Given the description of an element on the screen output the (x, y) to click on. 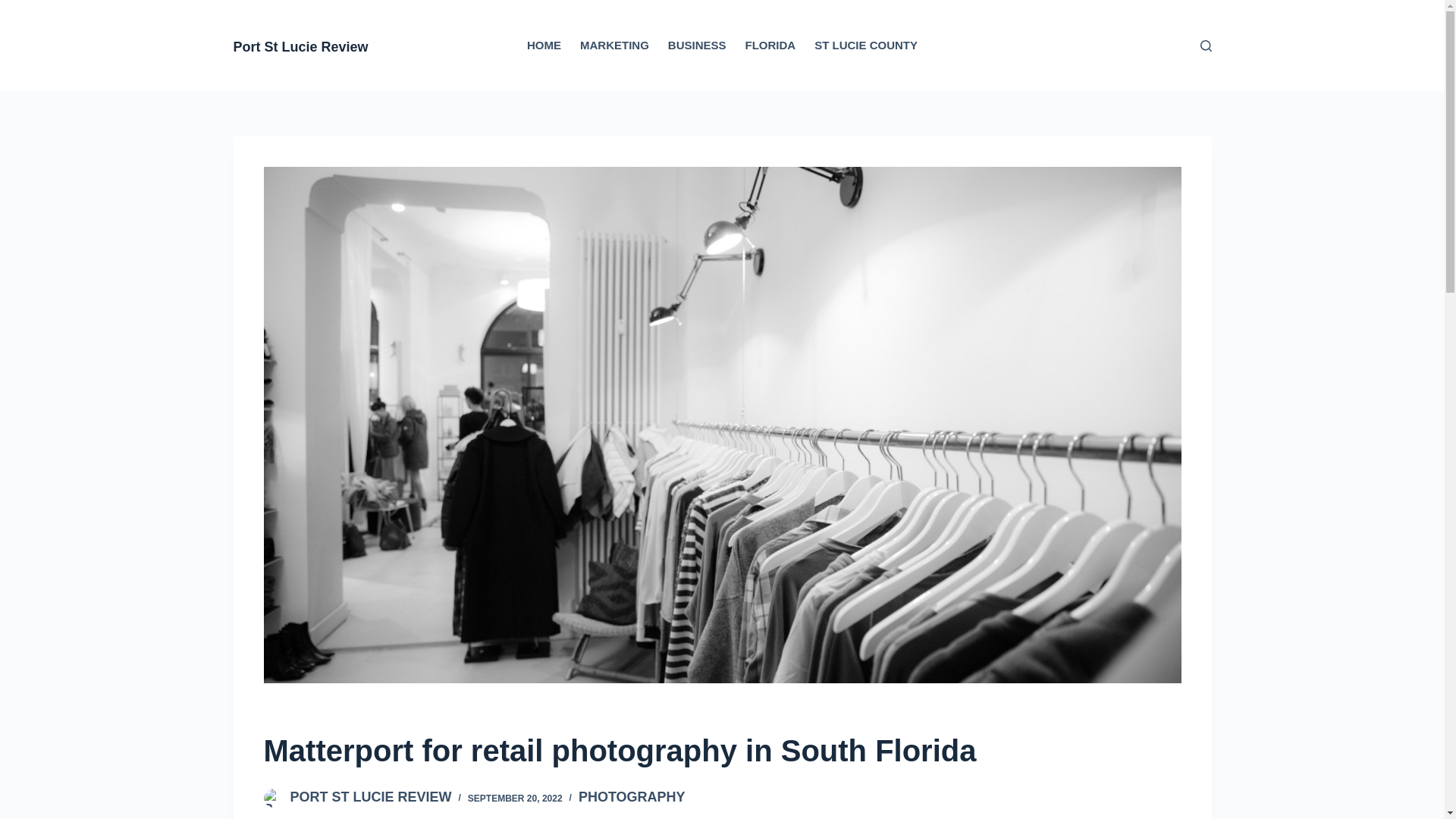
Port St Lucie Review (300, 46)
ST LUCIE COUNTY (866, 45)
MARKETING (614, 45)
PHOTOGRAPHY (631, 796)
Posts by Port St Lucie Review (370, 796)
PORT ST LUCIE REVIEW (370, 796)
Matterport for retail photography in South Florida (721, 750)
Skip to content (15, 7)
